Given the description of an element on the screen output the (x, y) to click on. 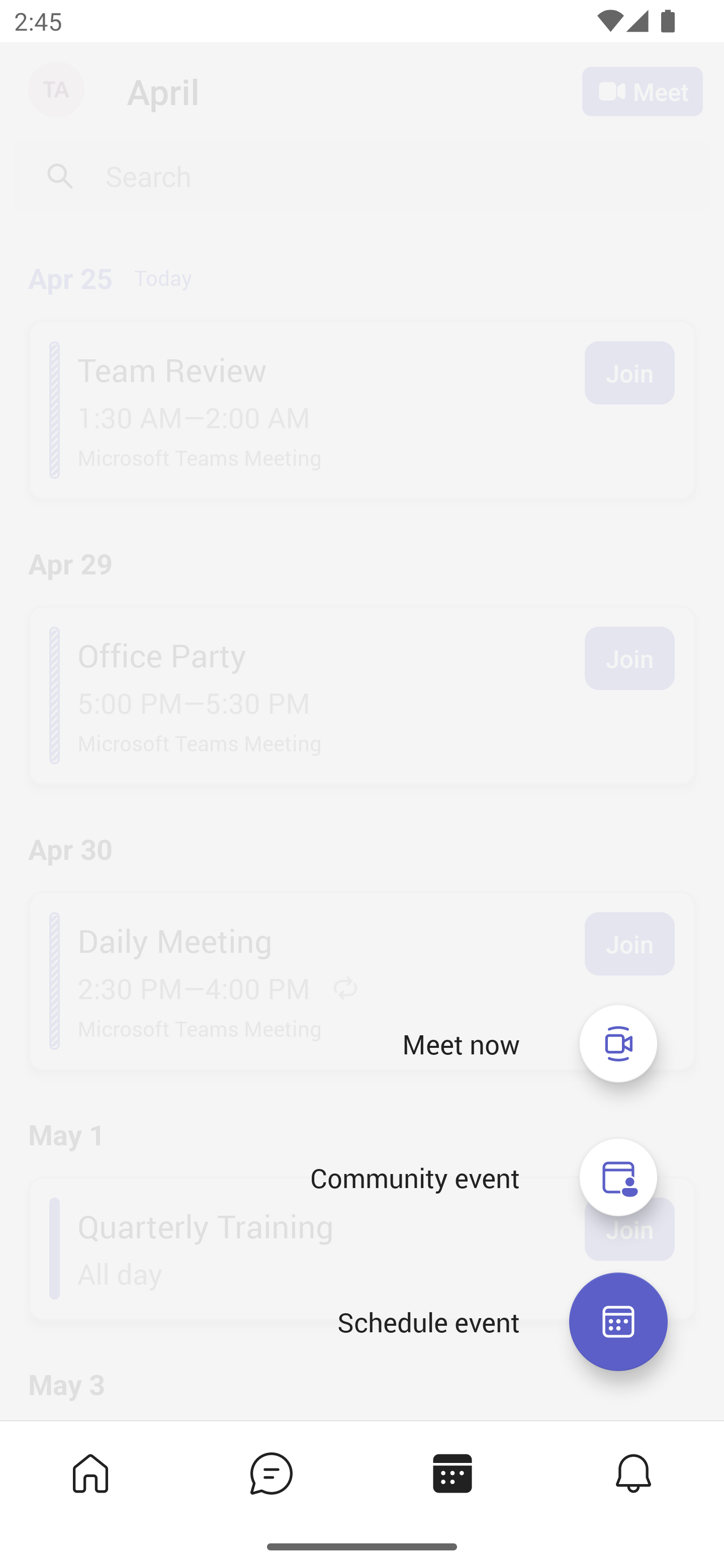
Meet now (618, 1043)
Meet now (461, 1044)
Community event (618, 1177)
Community event (414, 1177)
Schedule event (618, 1321)
Schedule event (428, 1321)
Home tab,1 of 4, not selected (90, 1472)
Chat tab,2 of 4, not selected (271, 1472)
Calendar tab, 3 of 4 (452, 1472)
Activity tab,4 of 4, not selected (633, 1472)
